Given the description of an element on the screen output the (x, y) to click on. 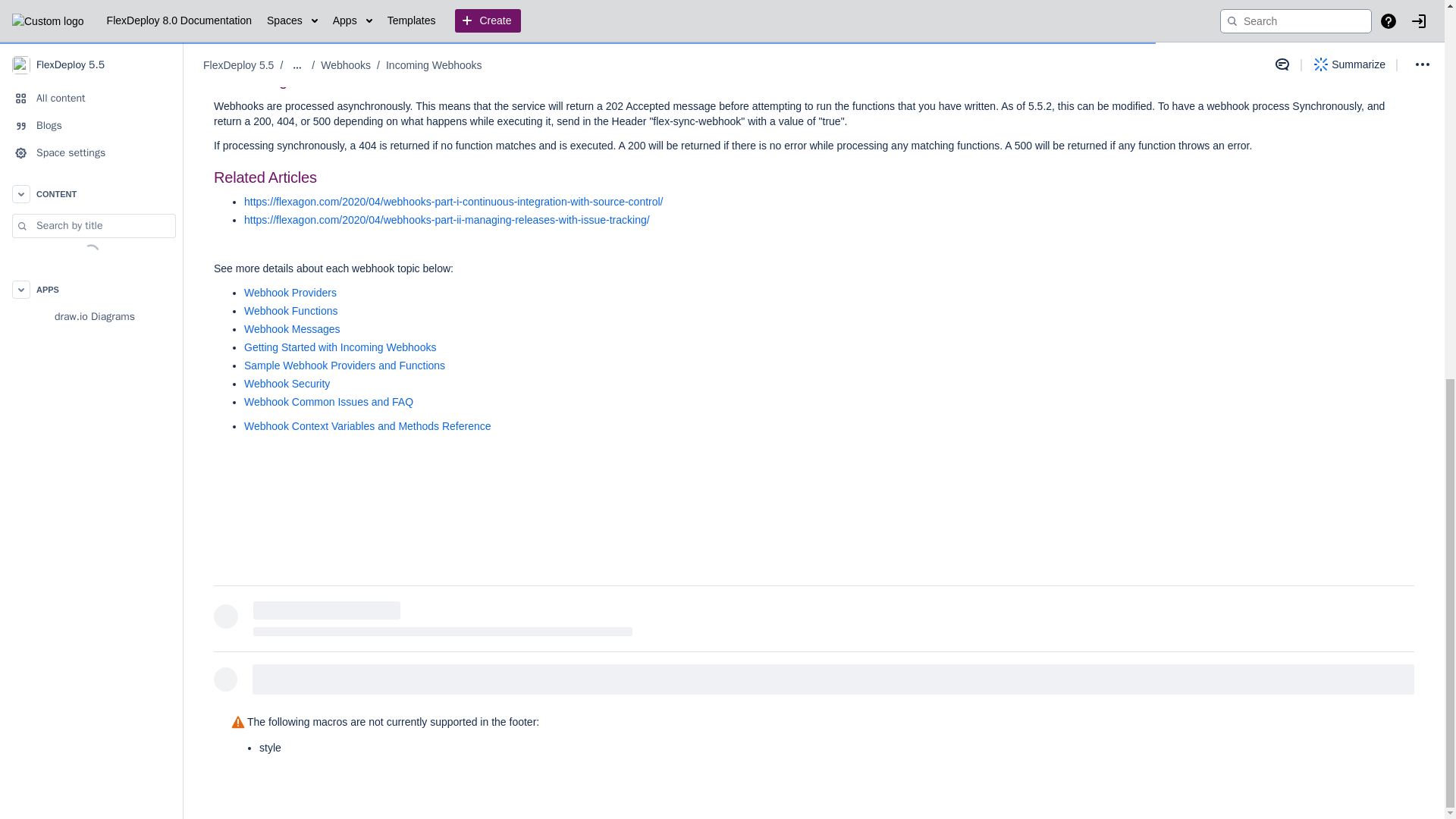
received webhooks (379, 25)
